Given the description of an element on the screen output the (x, y) to click on. 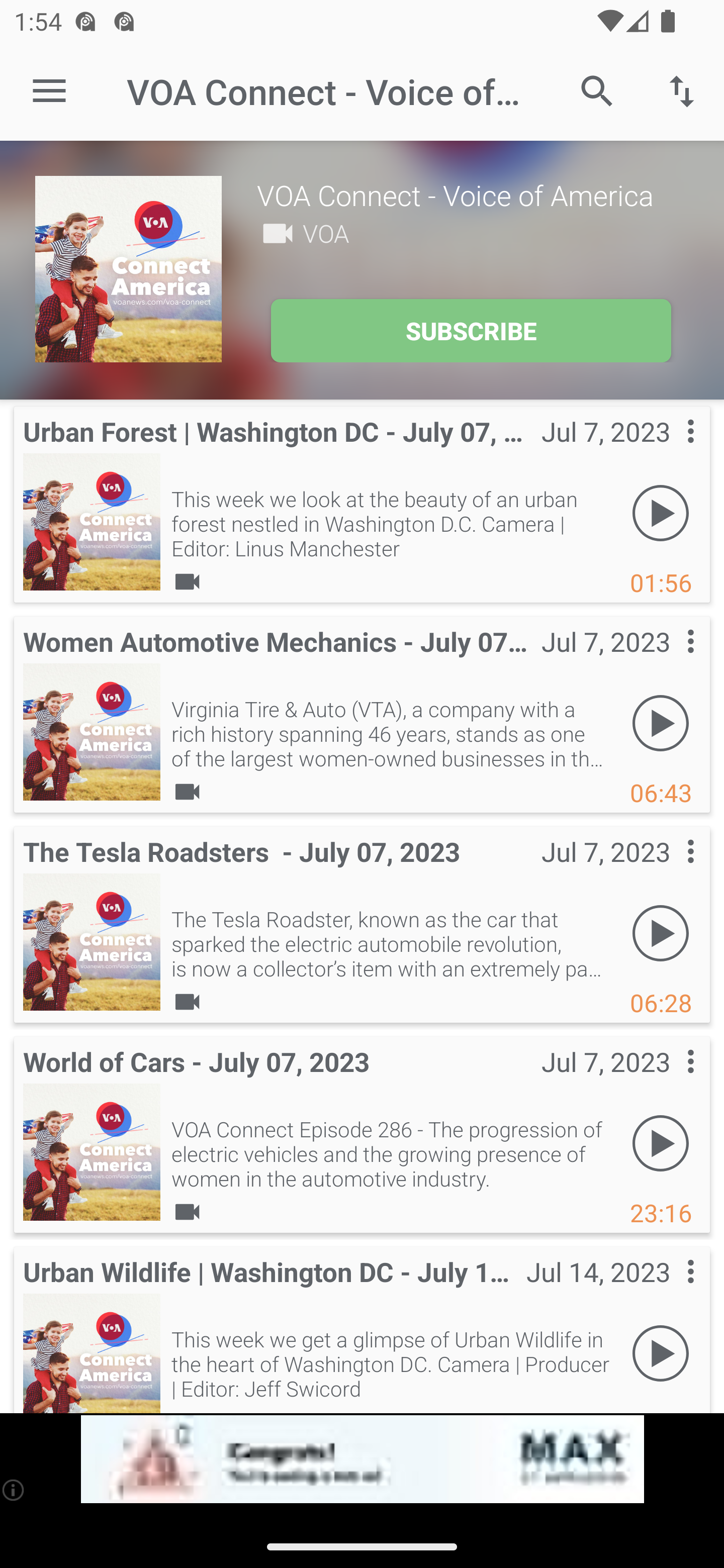
Open navigation sidebar (49, 91)
Search (597, 90)
Sort (681, 90)
SUBSCRIBE (470, 330)
Contextual menu (668, 451)
Play (660, 513)
Contextual menu (668, 661)
Play (660, 723)
Contextual menu (668, 870)
Play (660, 933)
Contextual menu (668, 1080)
Play (660, 1143)
Contextual menu (668, 1290)
Play (660, 1353)
app-monetization (362, 1459)
(i) (14, 1489)
